Given the description of an element on the screen output the (x, y) to click on. 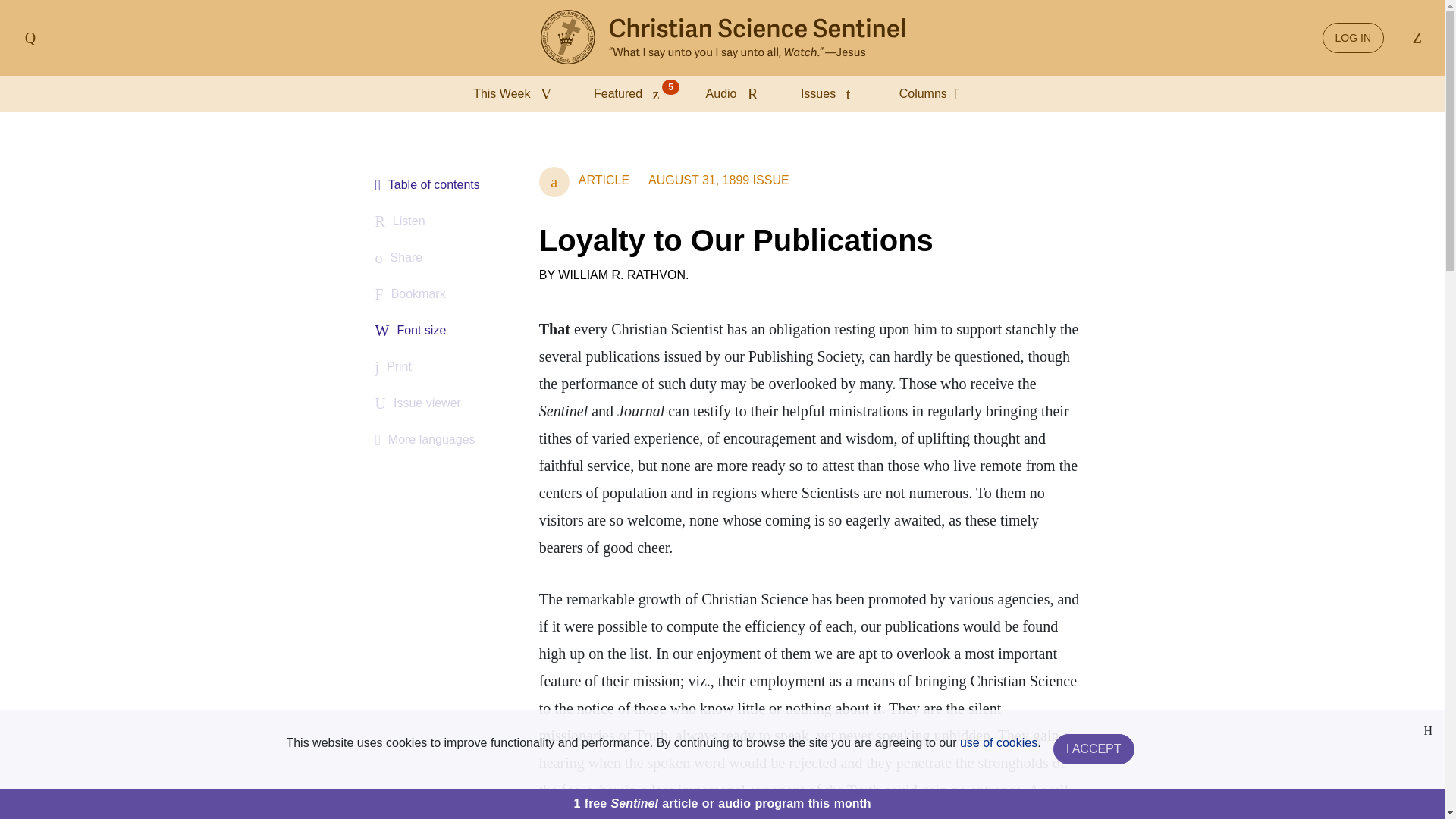
This Week (515, 94)
Search Modal (1414, 37)
LOG IN (1353, 37)
Audio (735, 94)
Issues (831, 94)
Featured (631, 94)
Featured (631, 94)
View Sentinel Columns and Sections (934, 94)
Issues (831, 94)
This Week (515, 94)
Side Menu (29, 37)
Audio (735, 94)
Christian Science Sentinel (722, 37)
Columns (934, 94)
